Given the description of an element on the screen output the (x, y) to click on. 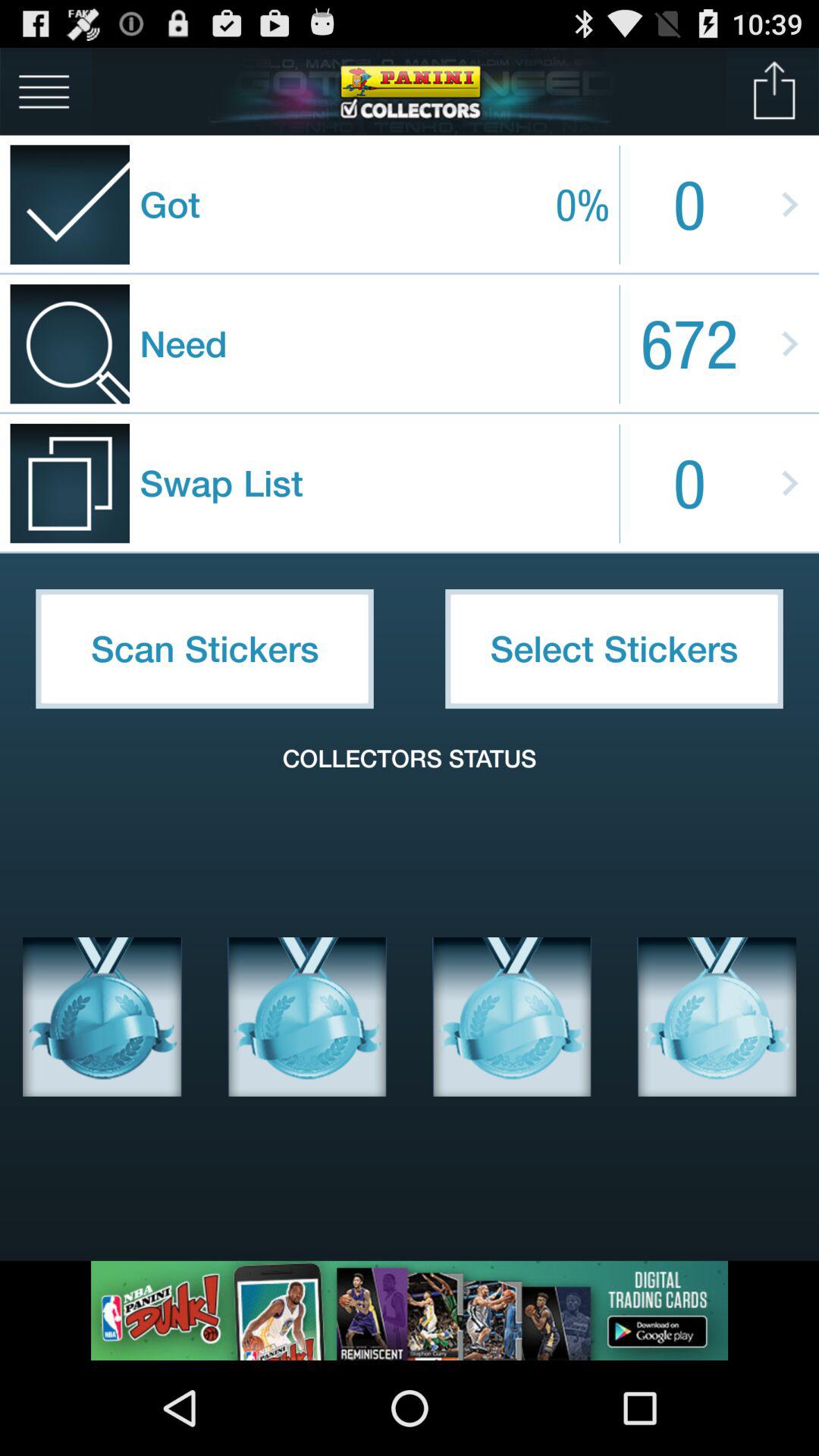
choose the item below swap list item (614, 648)
